Given the description of an element on the screen output the (x, y) to click on. 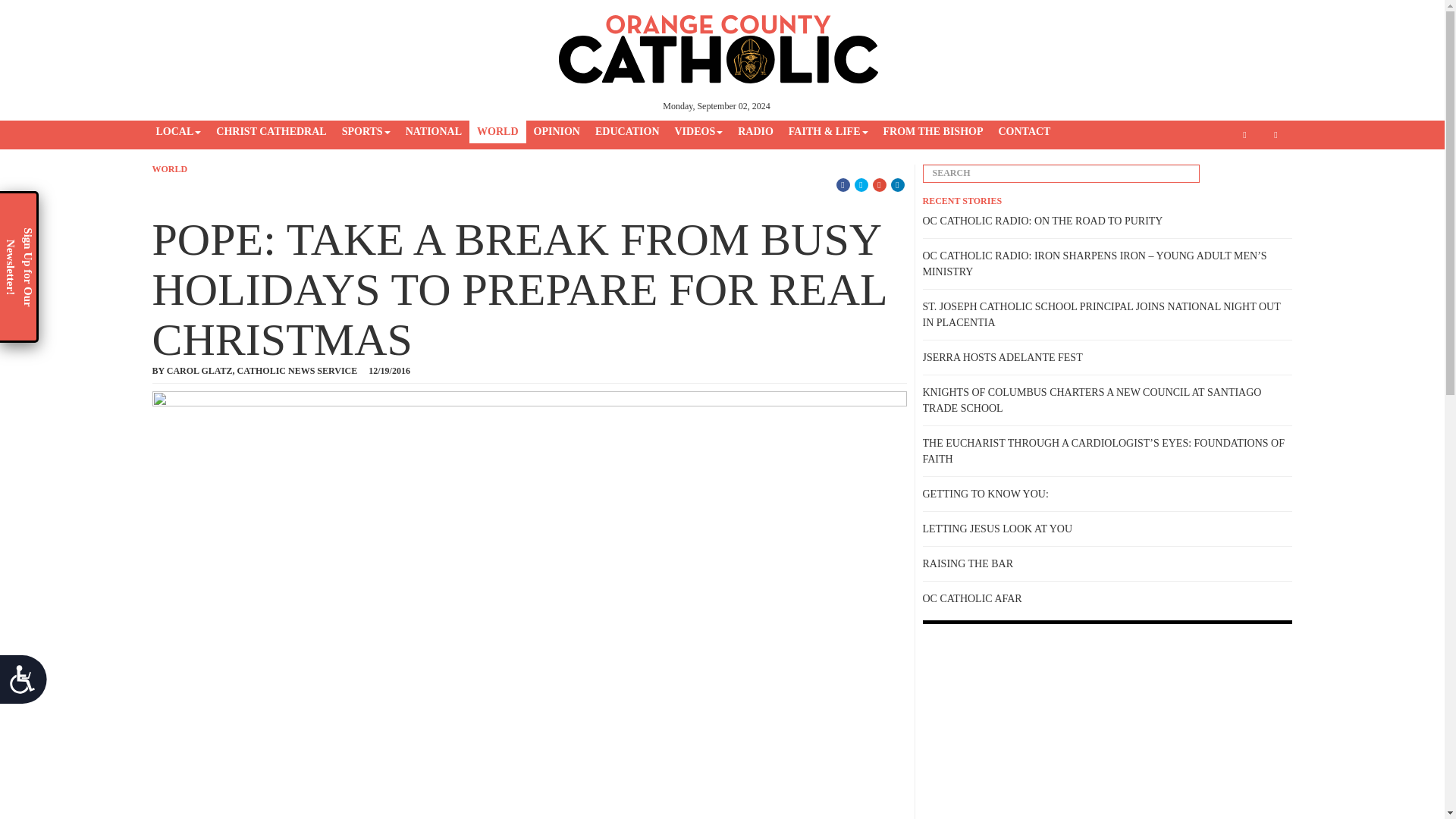
EDUCATION (627, 131)
VIDEOS (698, 131)
SPORTS (365, 131)
Accessibility (29, 685)
OPINION (556, 131)
LOCAL (178, 131)
CHRIST CATHEDRAL (270, 131)
RADIO (755, 131)
NATIONAL (432, 131)
